Given the description of an element on the screen output the (x, y) to click on. 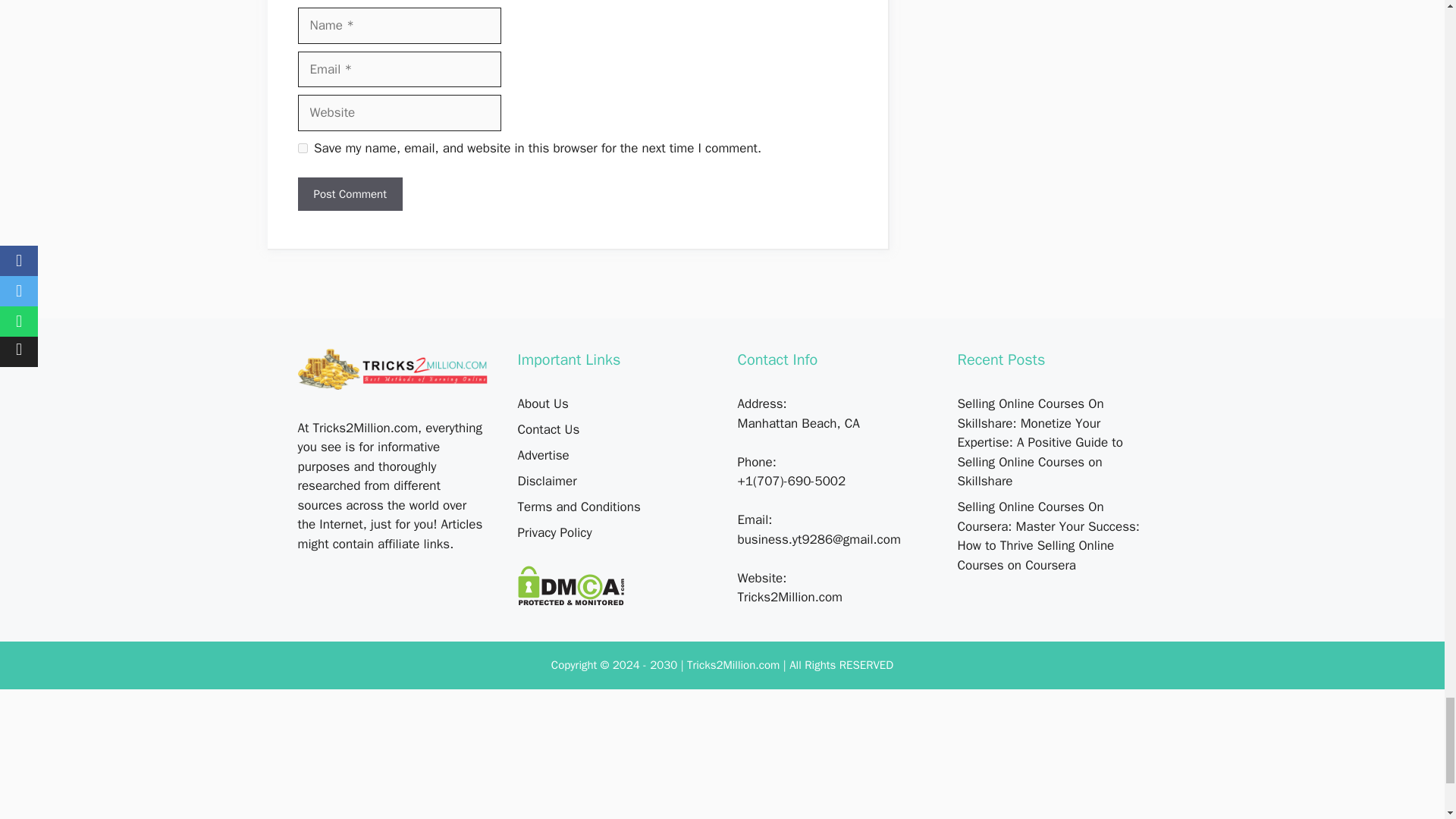
Tricks2Million's DMCA Protection Declaration (570, 601)
Post Comment (349, 194)
yes (302, 148)
